Given the description of an element on the screen output the (x, y) to click on. 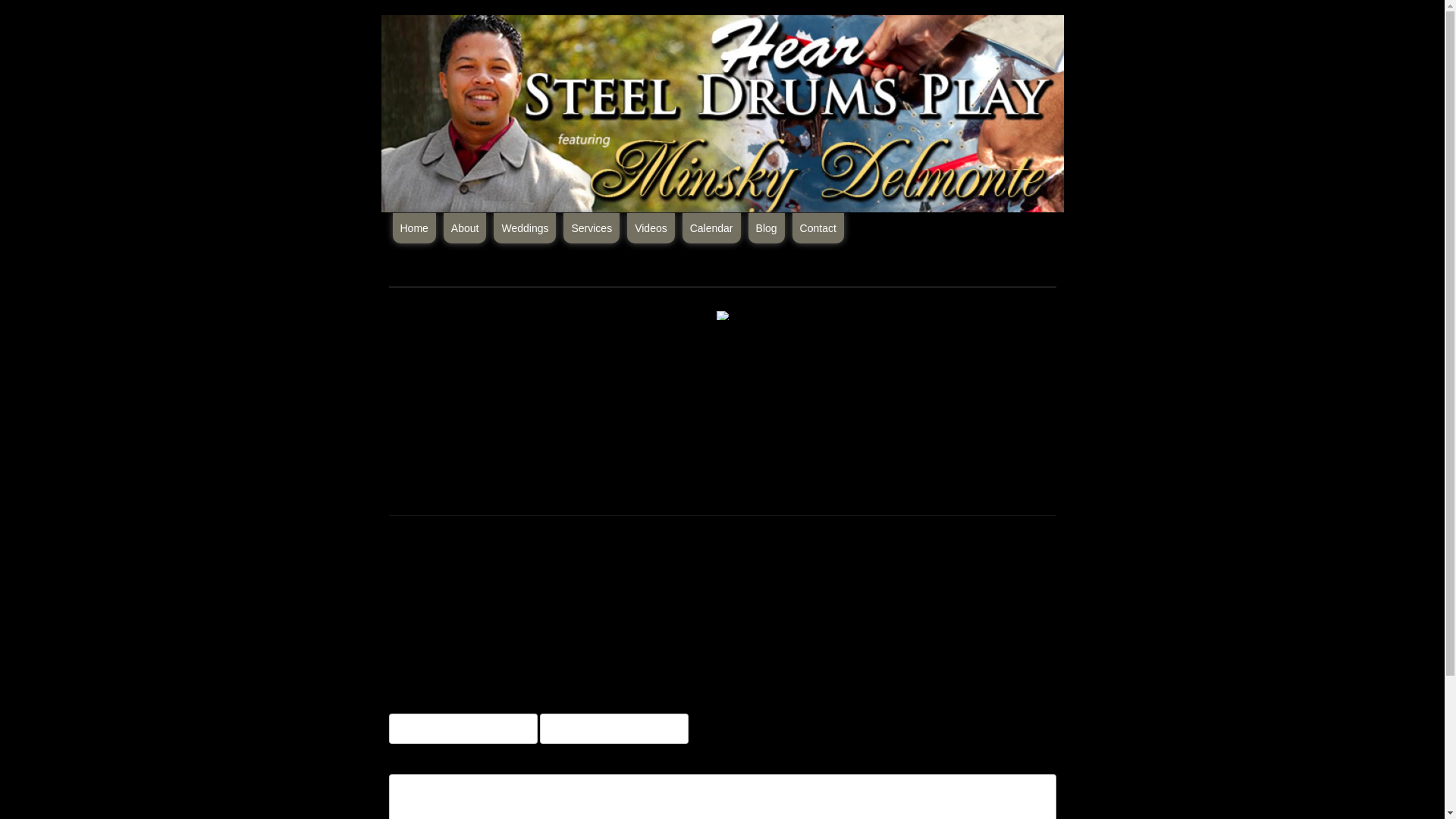
Blog (766, 227)
LOG IN (874, 670)
Weddings (524, 227)
Services (591, 227)
LEAVE A COMMENT (452, 557)
April 11, 2014 20:20 (405, 533)
SHARE (549, 557)
Contact (818, 227)
Back to all posts (423, 271)
REGISTER (918, 670)
Calendar (711, 227)
Leave a comment (452, 557)
Videos (651, 227)
Home (414, 227)
